Given the description of an element on the screen output the (x, y) to click on. 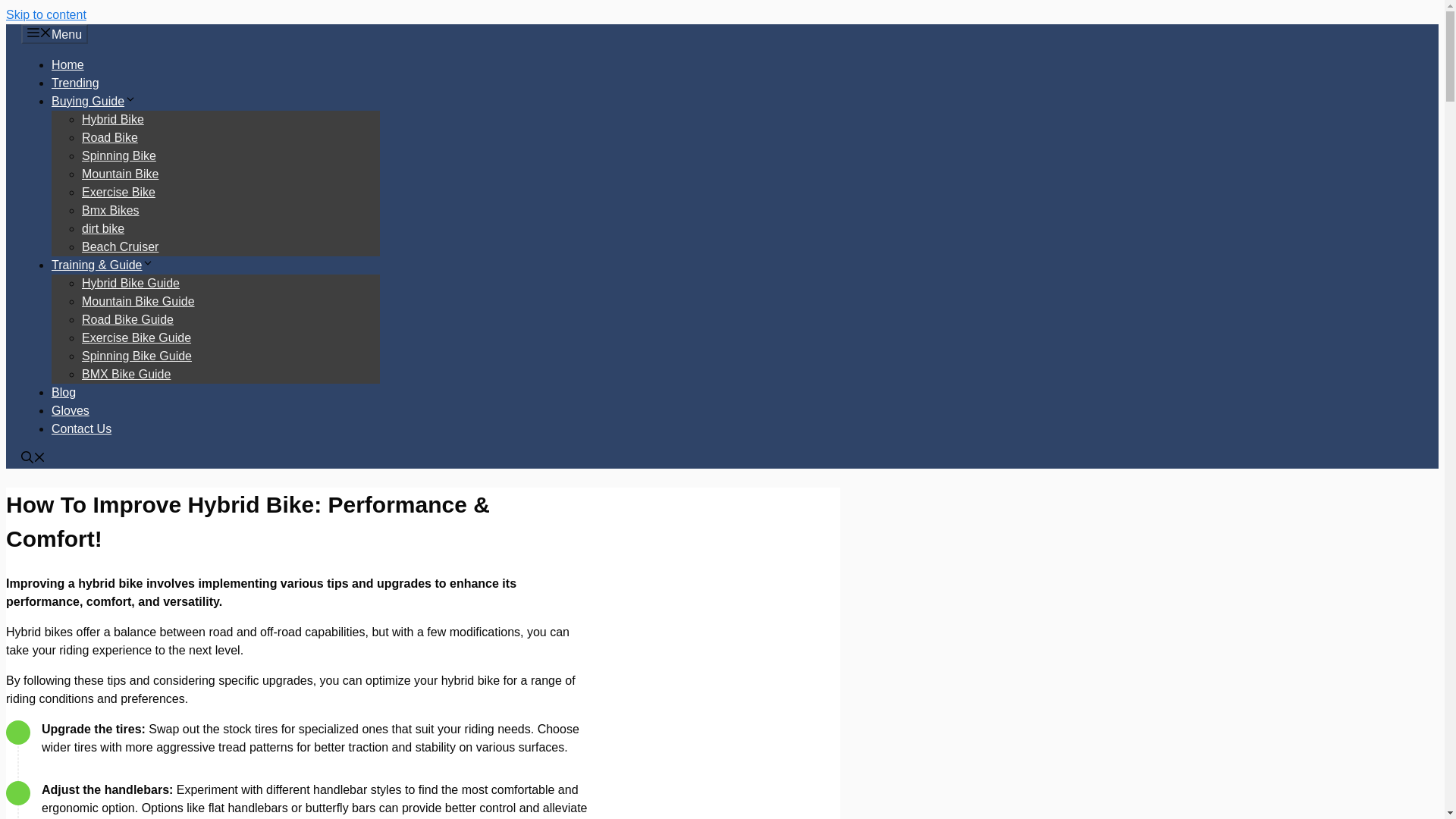
Road Bike Guide (127, 318)
Beach Cruiser (119, 246)
Spinning Bike Guide (136, 355)
Road Bike (109, 137)
BMX Bike Guide (125, 373)
Spinning Bike (118, 155)
Blog (62, 391)
Exercise Bike (118, 192)
Contact Us (81, 428)
Hybrid Bike (112, 119)
Exercise Bike Guide (135, 337)
Home (67, 64)
Menu (54, 34)
Hybrid Bike Guide (130, 282)
Buying Guide (93, 101)
